Given the description of an element on the screen output the (x, y) to click on. 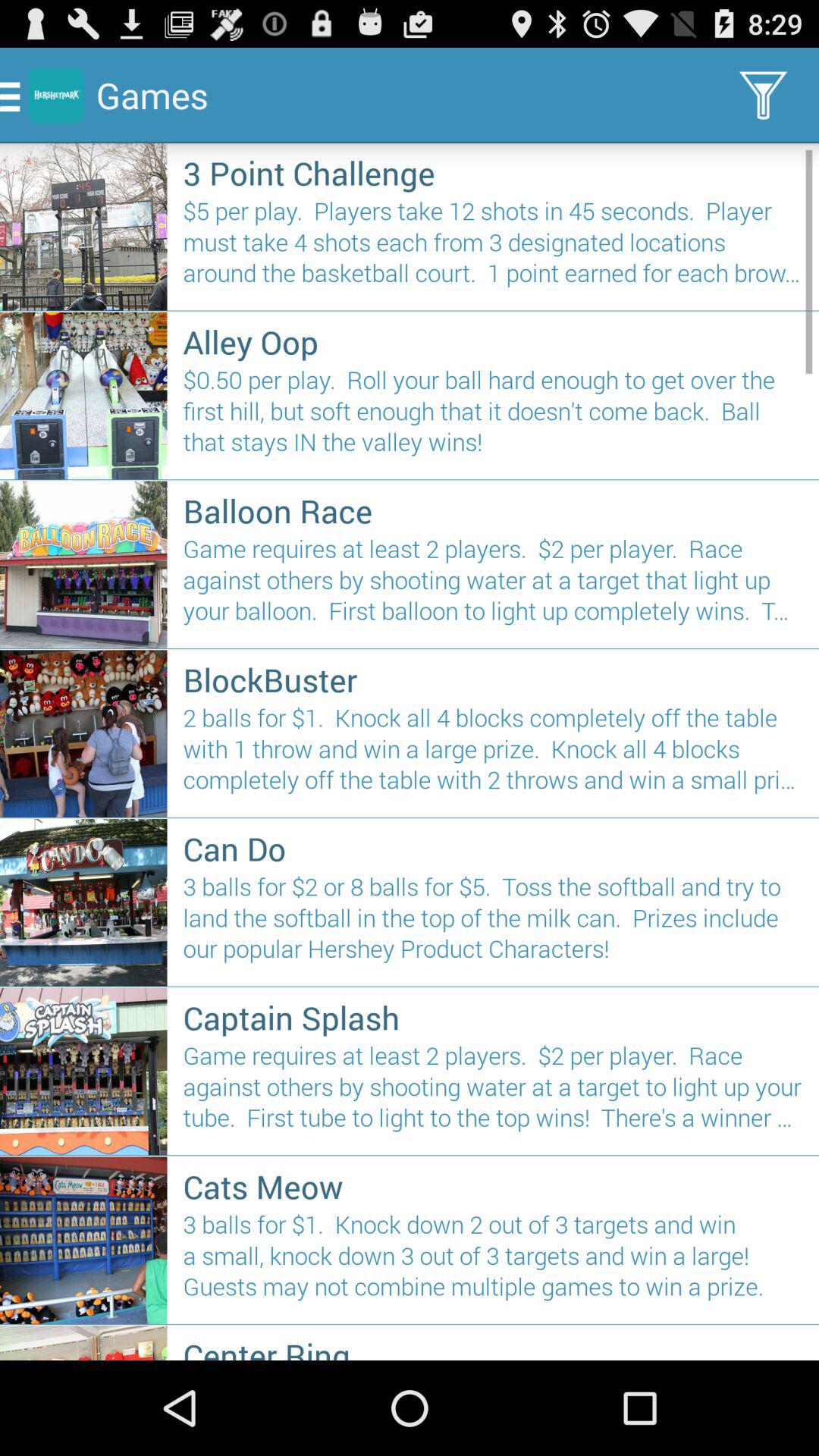
launch icon at the top right corner (763, 95)
